Given the description of an element on the screen output the (x, y) to click on. 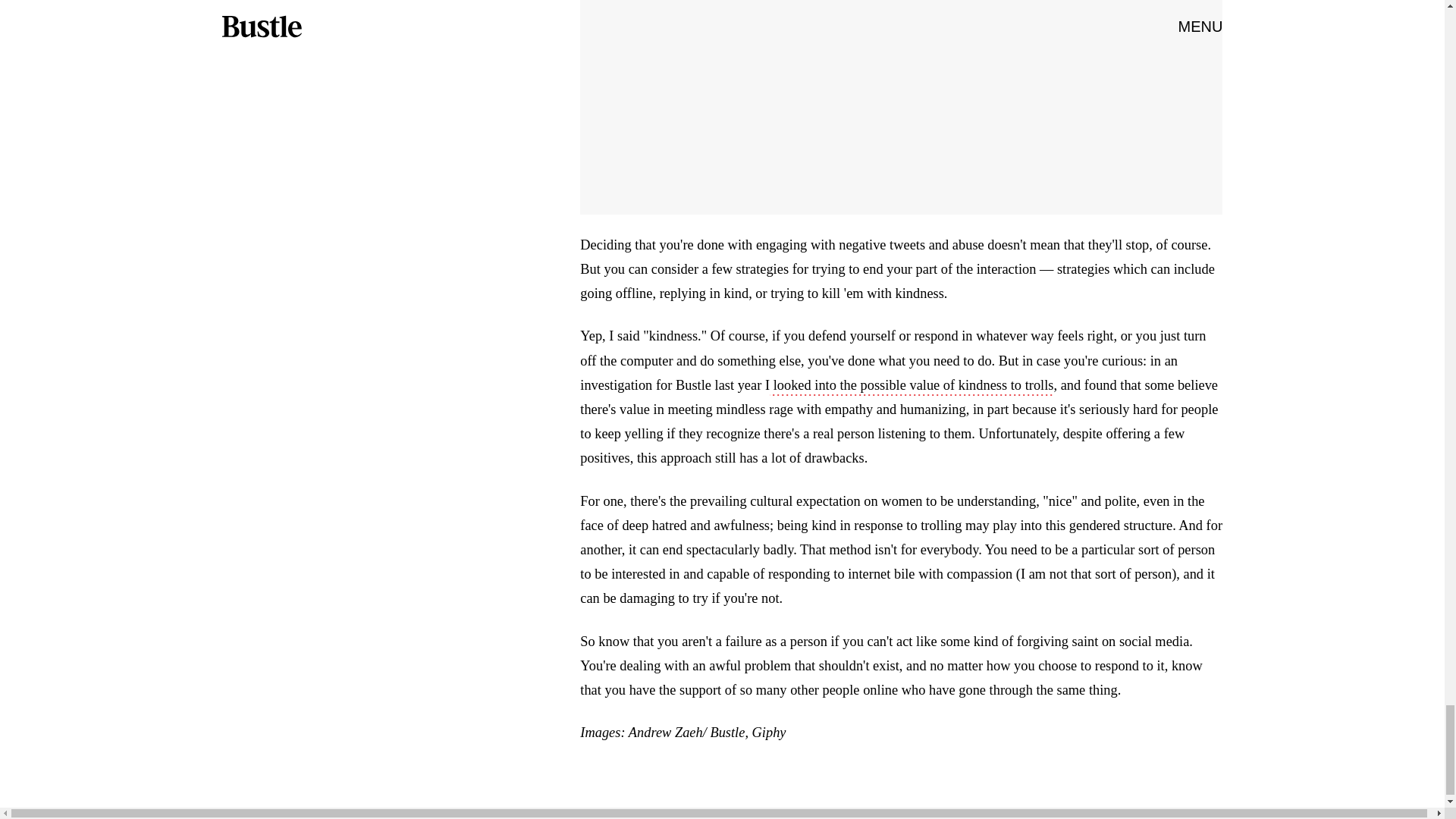
looked into the possible value of kindness to trolls (911, 386)
